Given the description of an element on the screen output the (x, y) to click on. 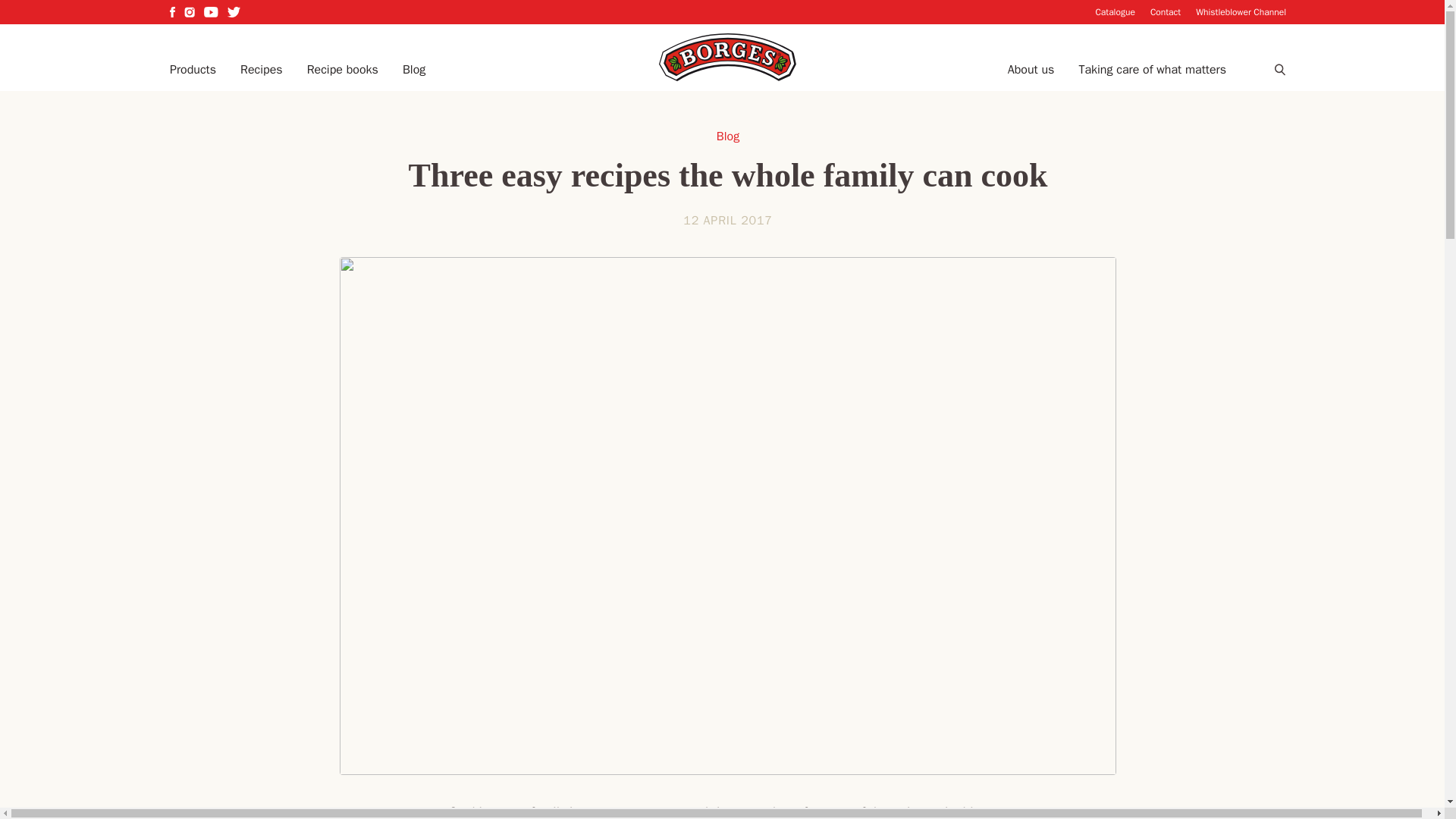
About us (1030, 69)
Contact (1165, 11)
Products (192, 69)
Catalogue (1114, 11)
Recipe books (342, 69)
Taking care of what matters (1151, 69)
Whistleblower Channel (1241, 11)
Blog (414, 69)
Recipes (261, 69)
